Given the description of an element on the screen output the (x, y) to click on. 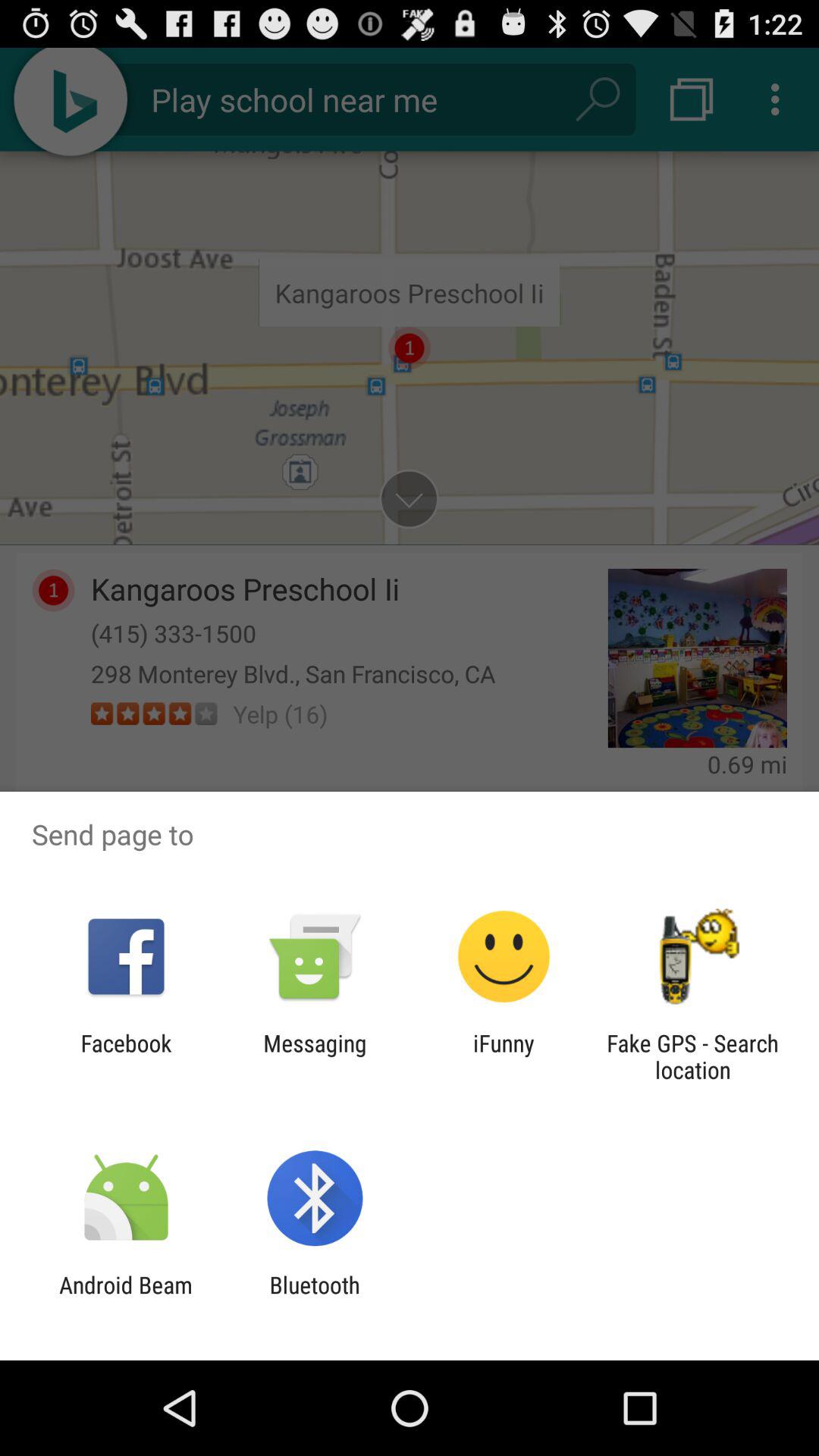
press the icon to the right of the ifunny icon (692, 1056)
